Given the description of an element on the screen output the (x, y) to click on. 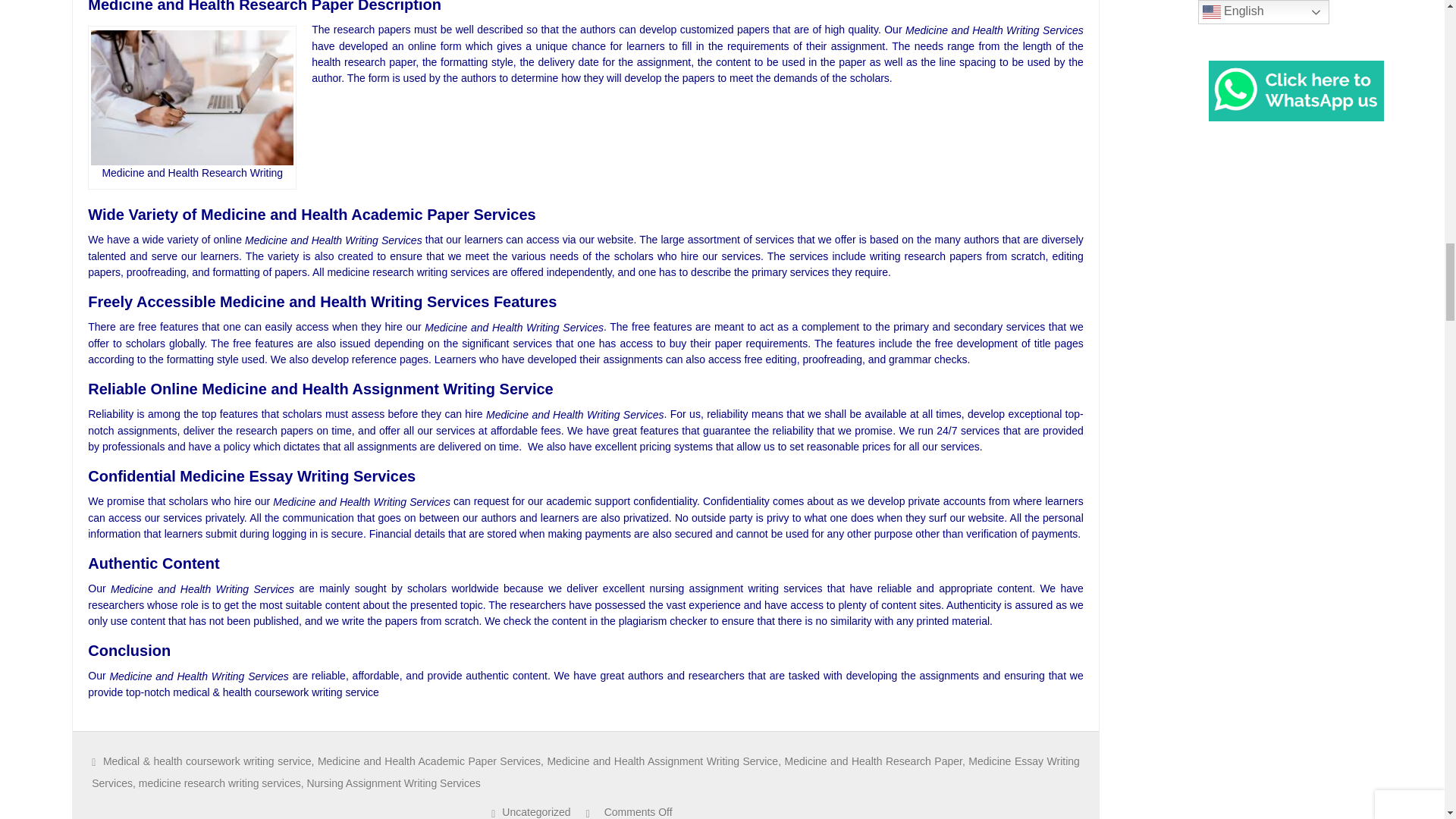
Medicine and Health Academic Paper Services (428, 761)
medicine research writing services (219, 783)
Medicine and Health Research Writing (192, 97)
Medicine and Health Assignment Writing Service (662, 761)
Uncategorized (536, 811)
Medicine and Health Research Paper (873, 761)
Nursing Assignment Writing Services (392, 783)
Medicine Essay Writing Services (585, 772)
